Given the description of an element on the screen output the (x, y) to click on. 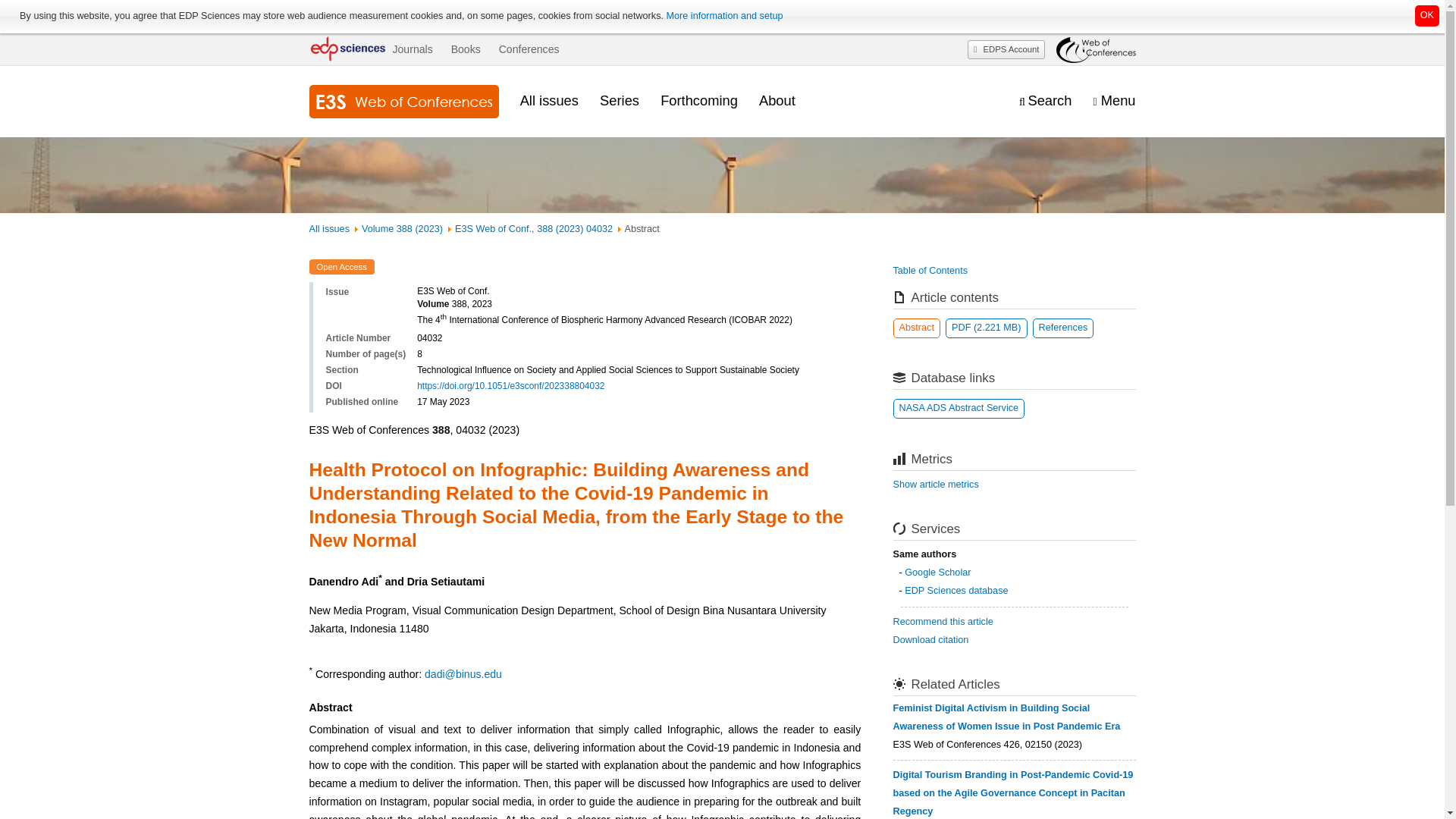
More information and setup (724, 15)
Books (465, 49)
Click to close this notification (1427, 15)
Abstract (916, 328)
Display the search engine (1045, 101)
Conferences (529, 49)
OK (1427, 15)
Journal homepage (403, 101)
Journals (411, 49)
